Given the description of an element on the screen output the (x, y) to click on. 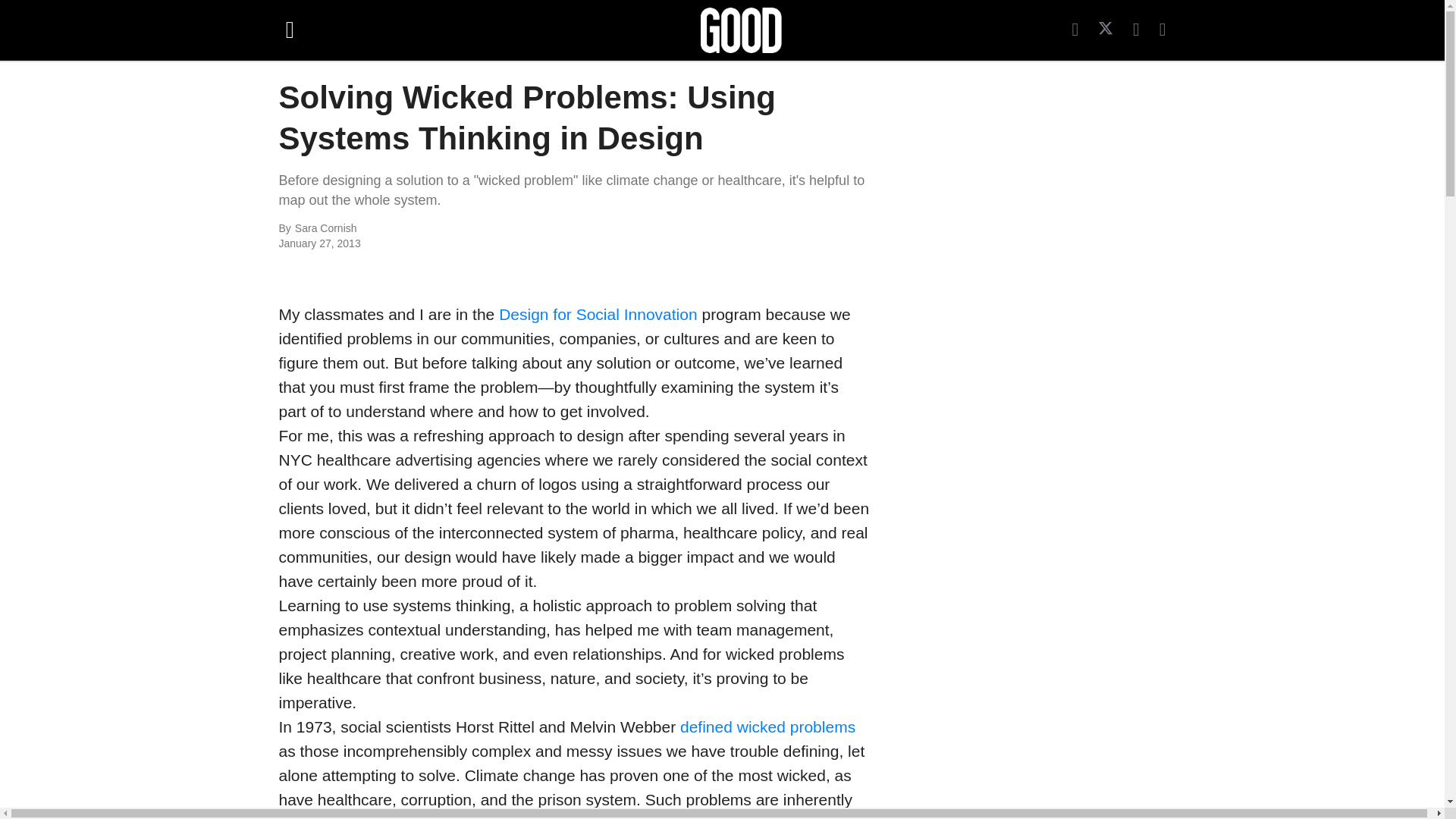
Sara Cornish (459, 228)
defined wicked problems (767, 726)
Design for Social Innovation (598, 313)
